Given the description of an element on the screen output the (x, y) to click on. 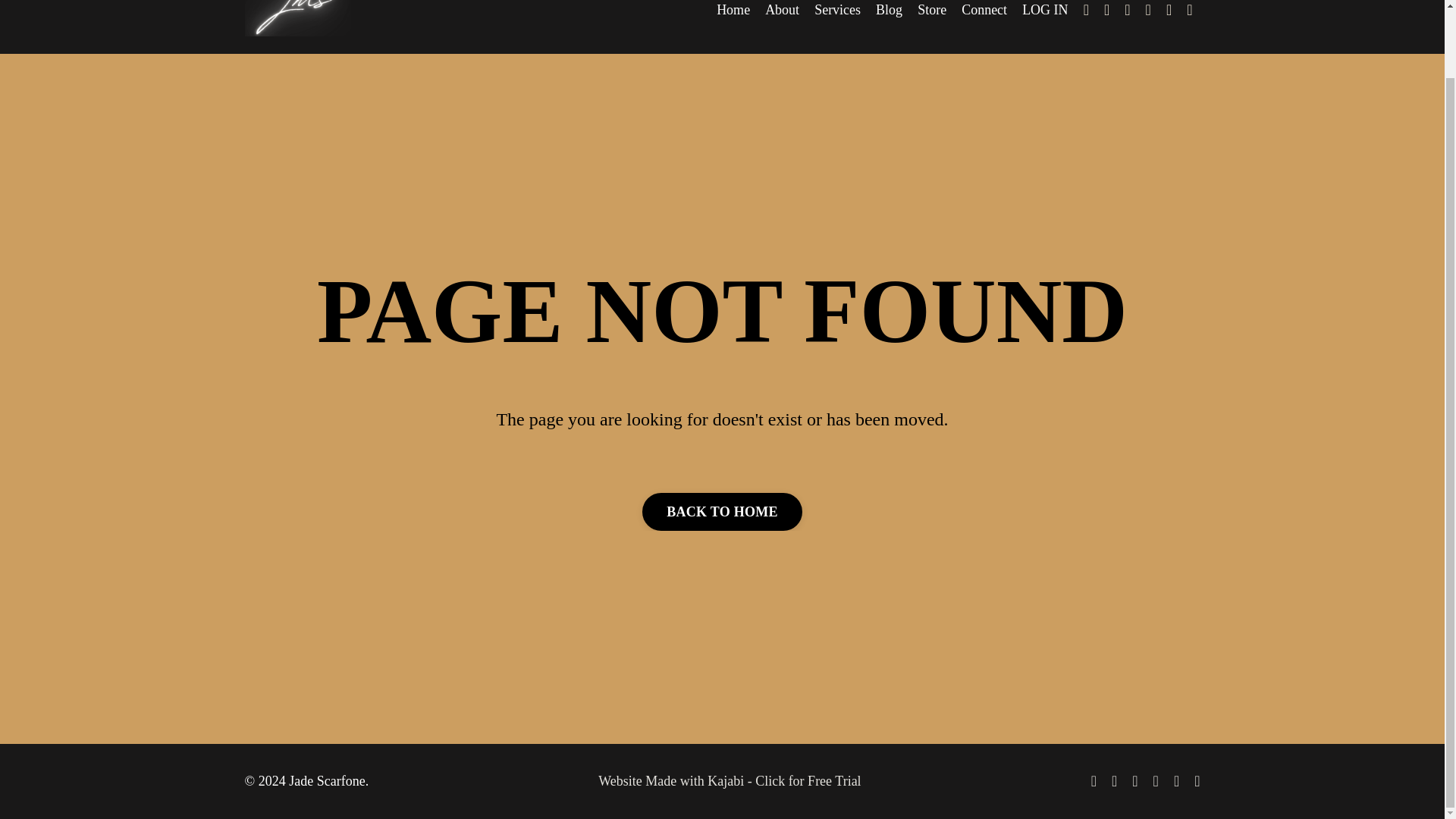
Home (732, 10)
Connect (983, 10)
BACK TO HOME (722, 511)
Store (931, 10)
Blog (889, 10)
Website Made with Kajabi - Click for Free Trial (729, 780)
Services (836, 10)
LOG IN (1045, 9)
About (782, 10)
